Given the description of an element on the screen output the (x, y) to click on. 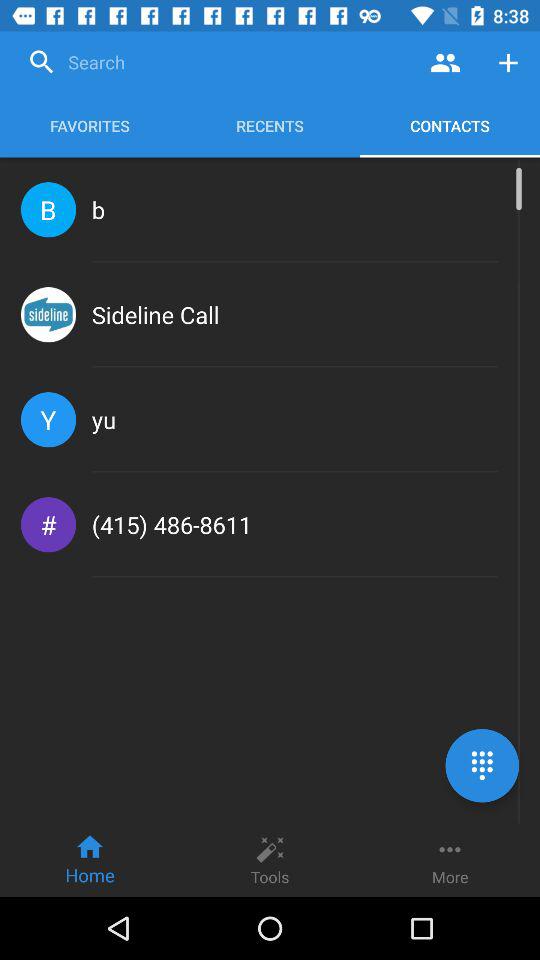
add contact (508, 62)
